Given the description of an element on the screen output the (x, y) to click on. 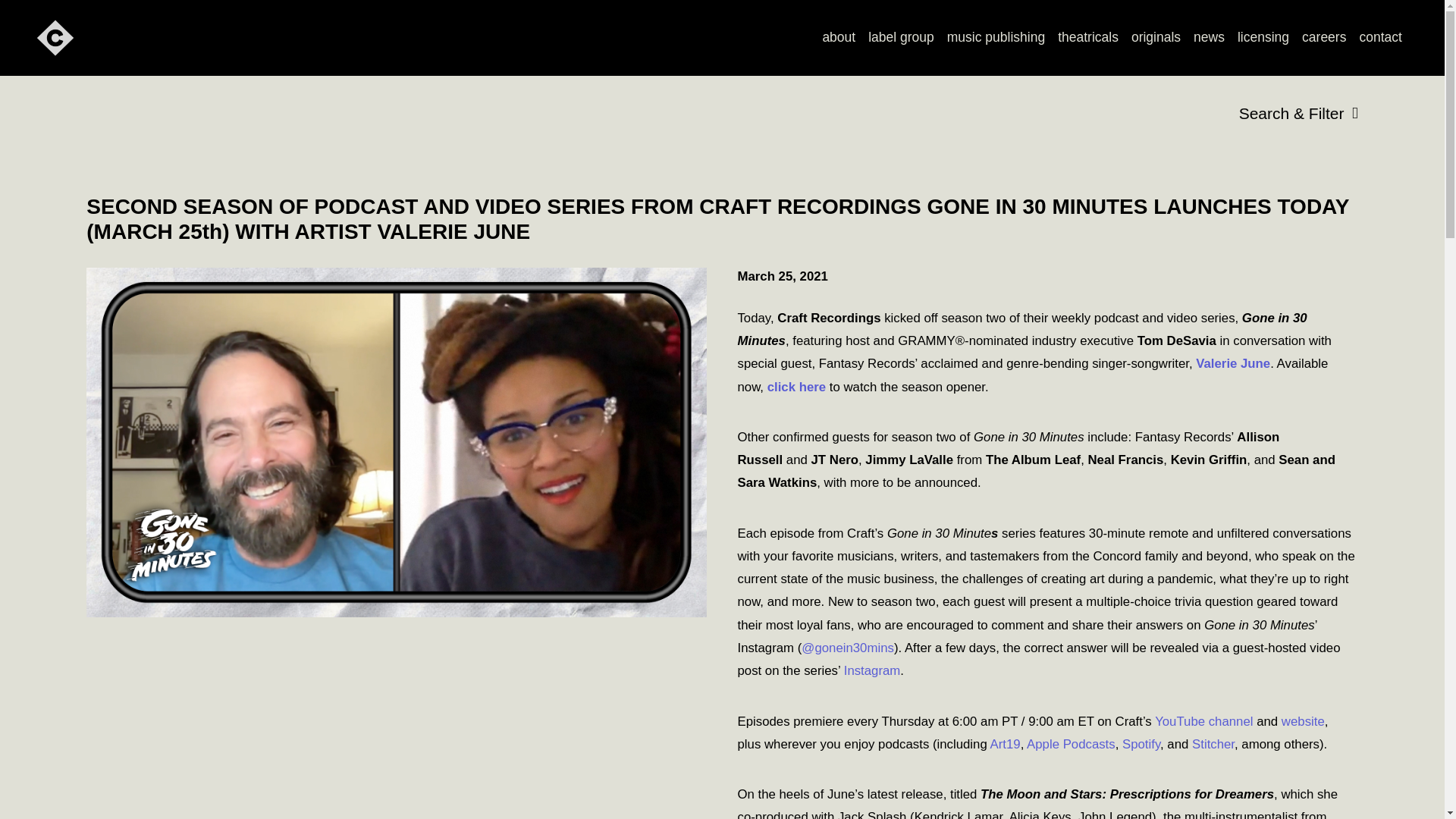
careers (1323, 38)
music publishing (995, 38)
theatricals (1088, 38)
originals (1155, 38)
news (1209, 38)
about (838, 38)
licensing (1262, 38)
contact (1379, 38)
label group (900, 38)
